Given the description of an element on the screen output the (x, y) to click on. 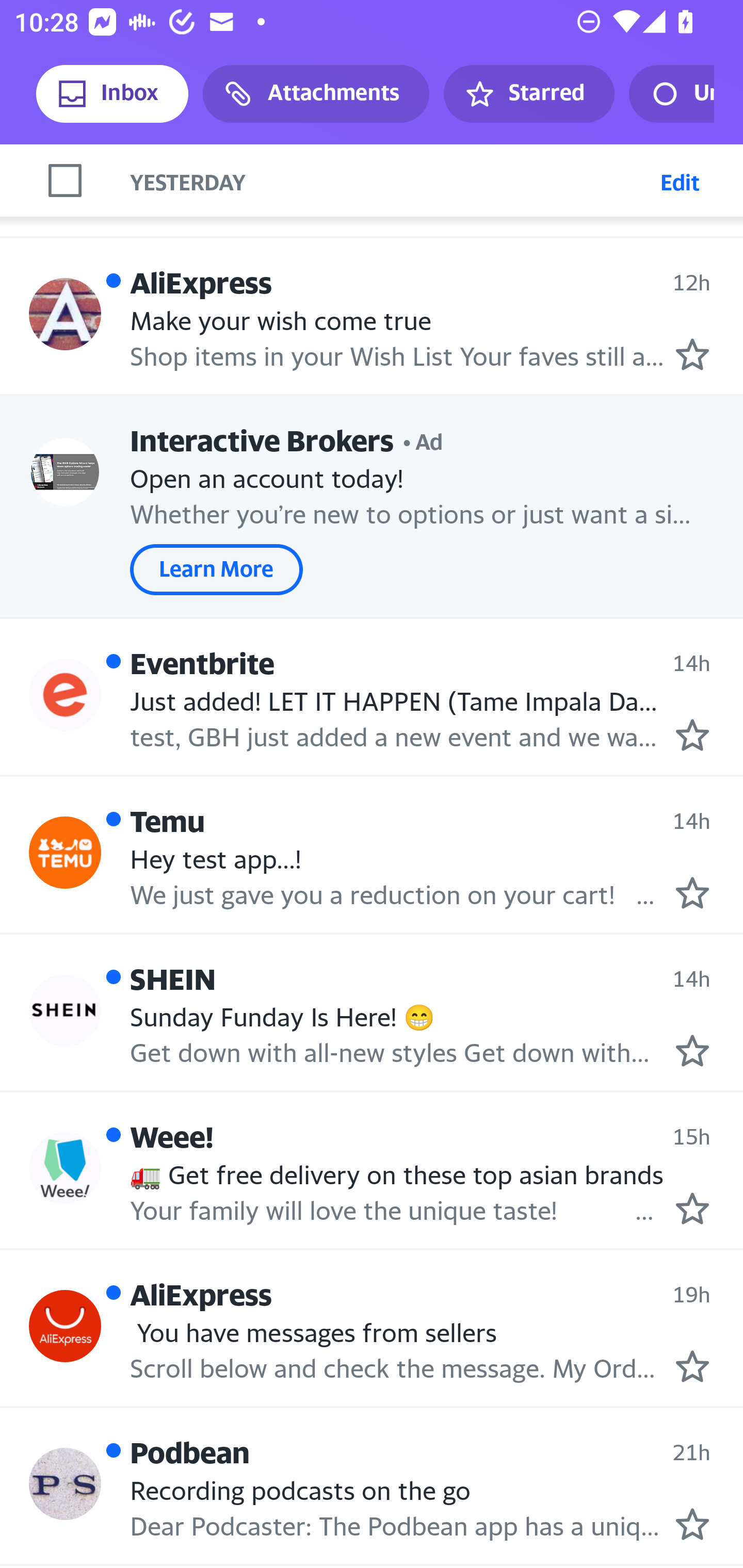
Attachments (315, 93)
Starred (528, 93)
Profile
AliExpress (64, 313)
Mark as starred. (692, 354)
Profile
Eventbrite (64, 694)
Mark as starred. (692, 734)
Profile
Temu (64, 852)
Mark as starred. (692, 892)
Profile
SHEIN (64, 1009)
Mark as starred. (692, 1051)
Profile
Weee! (64, 1168)
Mark as starred. (692, 1208)
Profile
AliExpress (64, 1326)
Mark as starred. (692, 1366)
Profile
Podbean (64, 1483)
Mark as starred. (692, 1524)
